Given the description of an element on the screen output the (x, y) to click on. 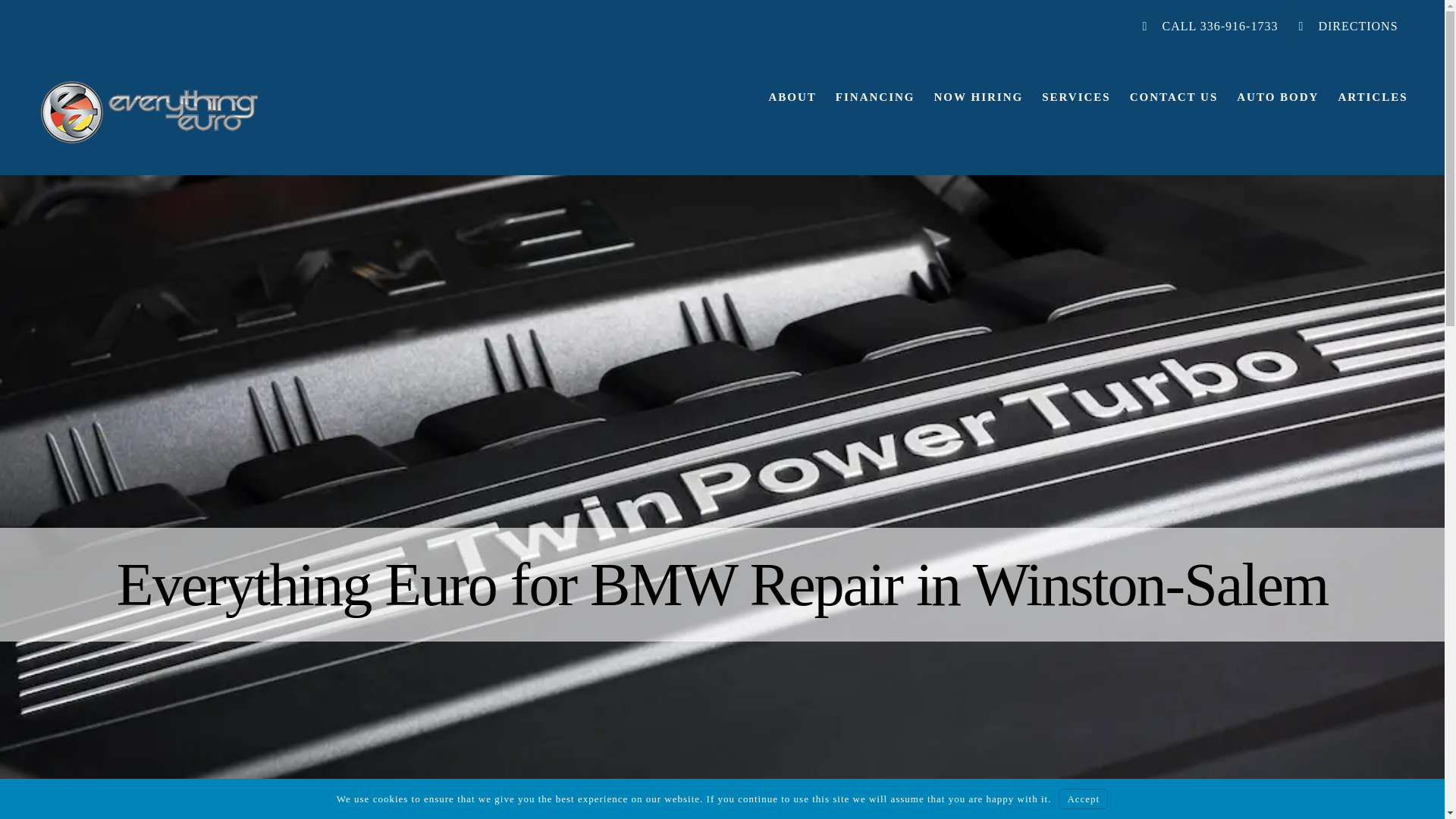
CALL 336-916-1733 (1210, 26)
AUTO BODY (1277, 96)
NOW HIRING (978, 96)
CONTACT US (1173, 96)
DIRECTIONS (1347, 26)
